Given the description of an element on the screen output the (x, y) to click on. 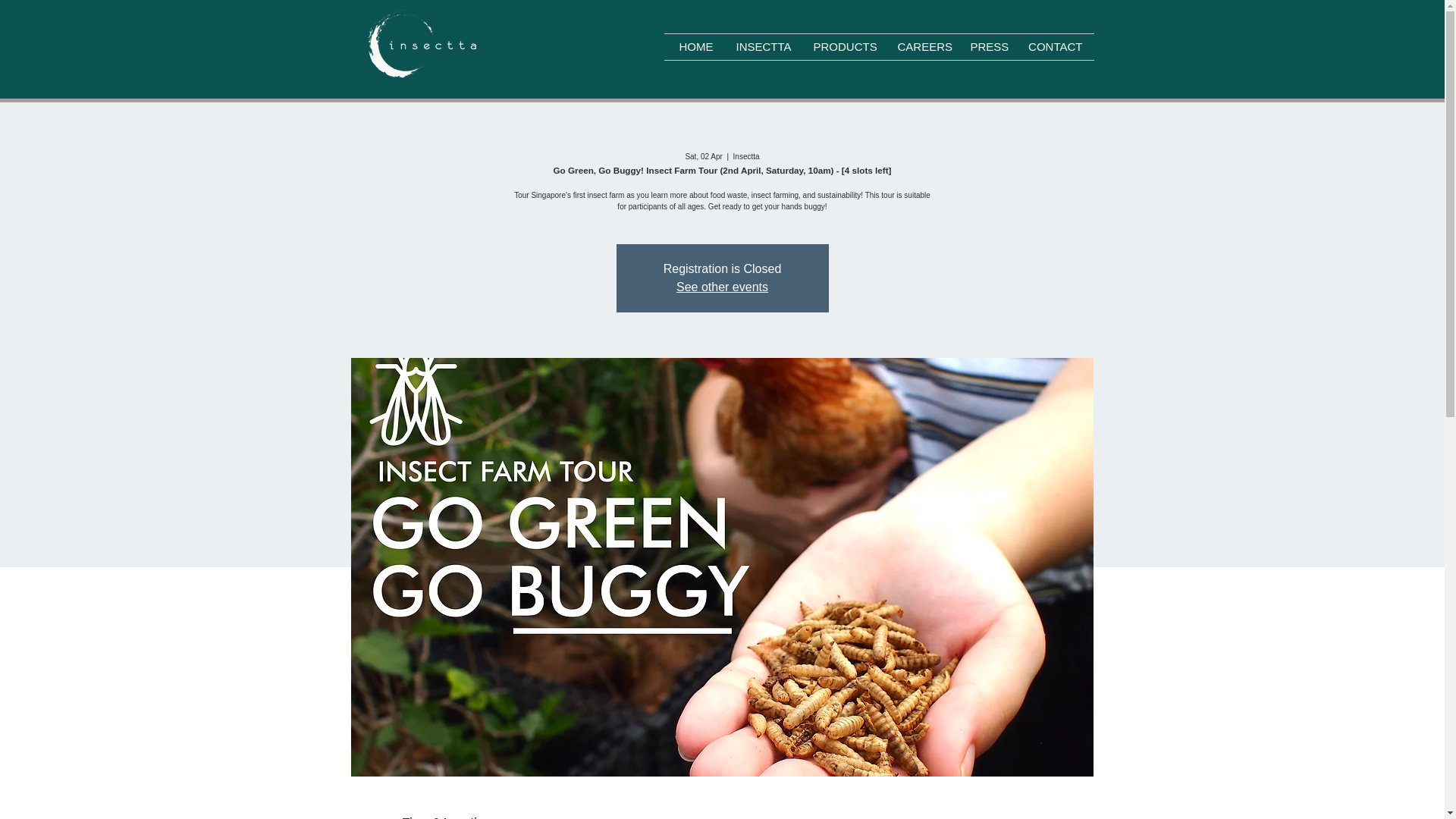
INSECTTA (763, 46)
CONTACT (1055, 46)
PRESS (986, 46)
PRODUCTS (844, 46)
CAREERS (921, 46)
HOME (694, 46)
See other events (722, 286)
